Given the description of an element on the screen output the (x, y) to click on. 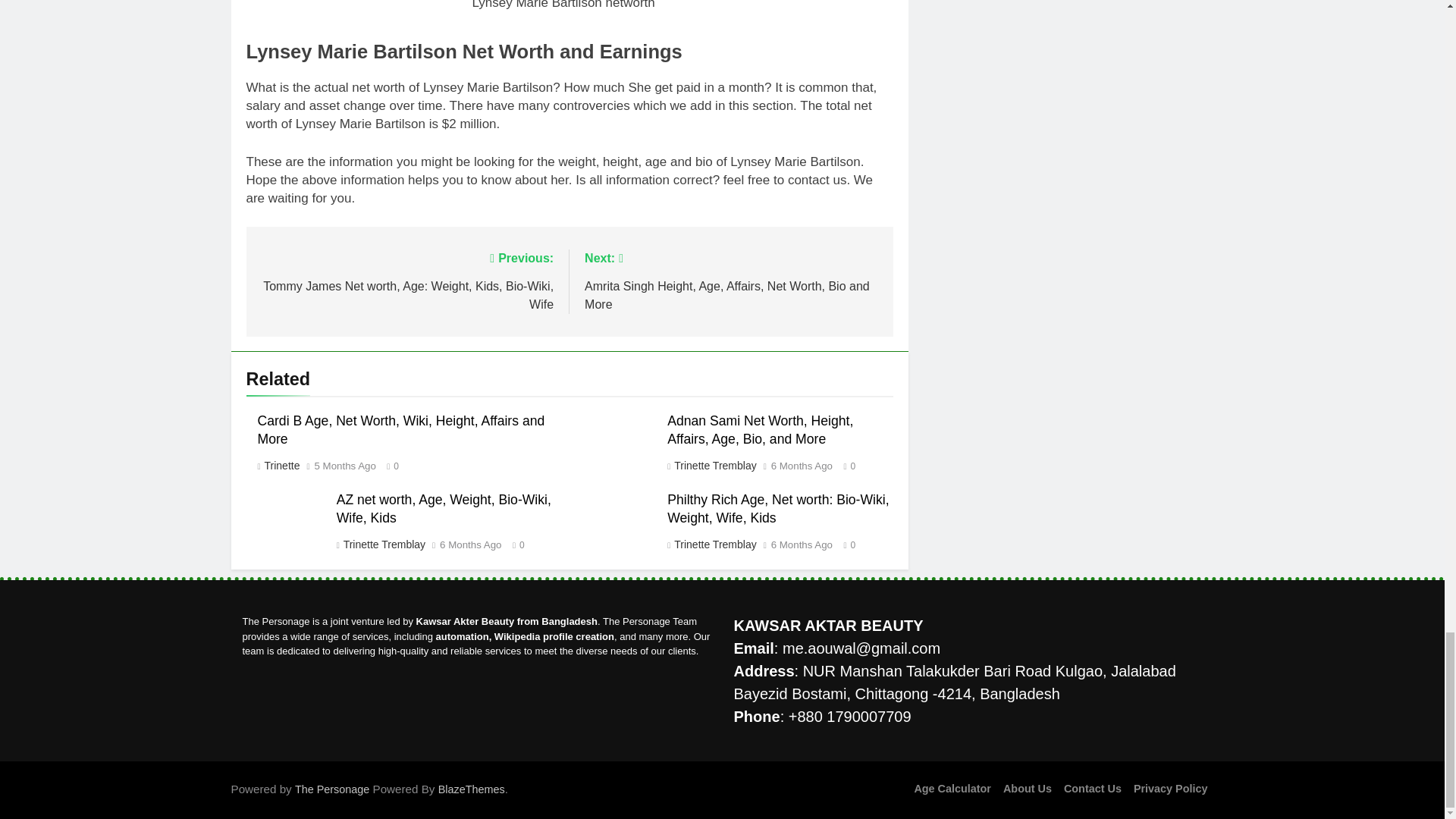
0 (514, 543)
AZ net worth, Age, Weight, Bio-Wiki, Wife, Kids (443, 508)
6 Months Ago (801, 466)
Trinette (281, 465)
6 Months Ago (469, 544)
Adnan Sami Net Worth, Height, Affairs, Age, Bio, and More (759, 429)
Philthy Rich Age, Net worth: Bio-Wiki, Weight, Wife, Kids (777, 508)
0 (388, 464)
